Given the description of an element on the screen output the (x, y) to click on. 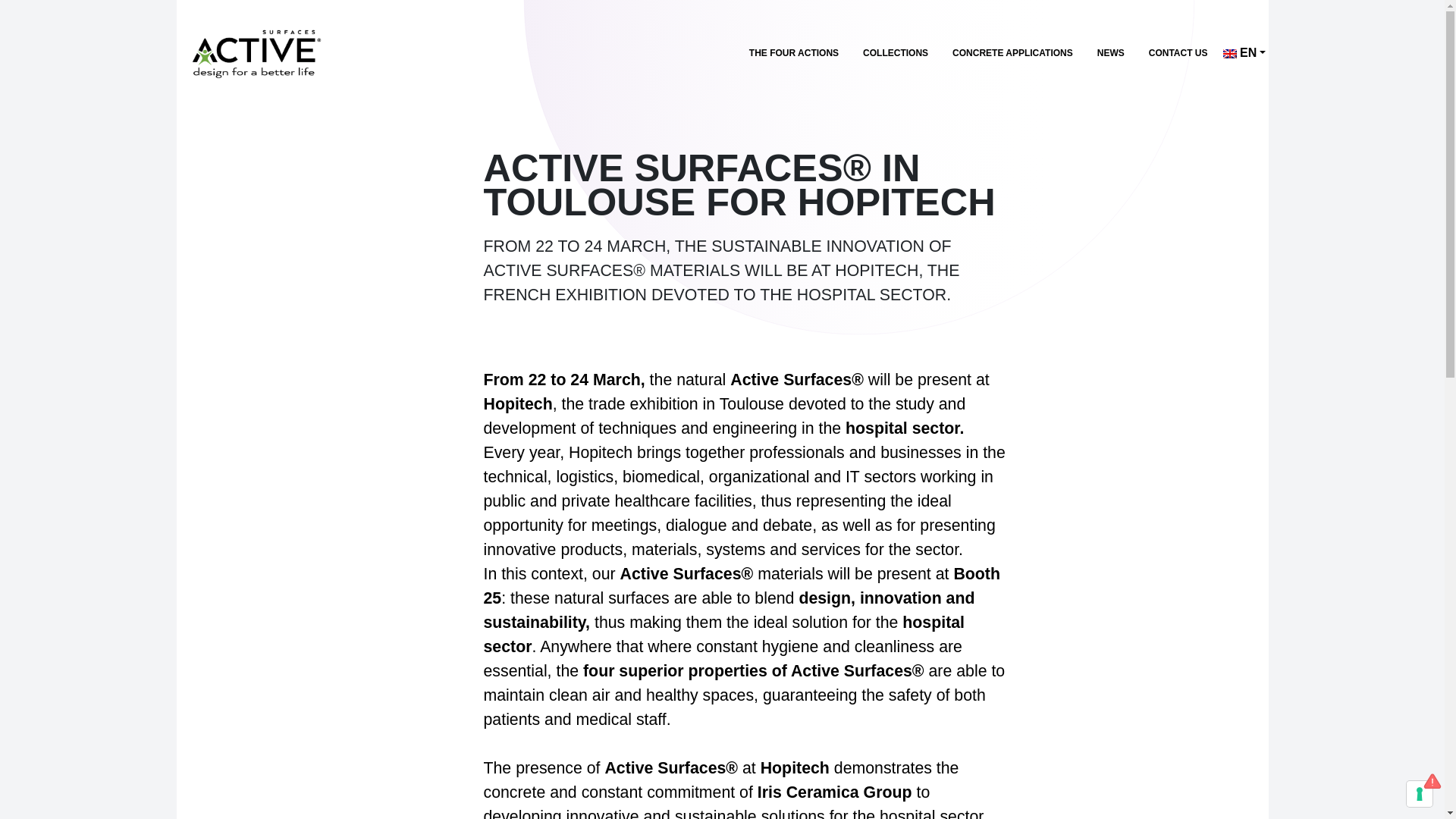
EN (1244, 52)
The four actions (793, 53)
CONCRETE APPLICATIONS (1012, 53)
CONTACT US (1178, 53)
THE FOUR ACTIONS (793, 53)
NEWS (1110, 53)
Media (1244, 52)
COLLECTIONS (895, 53)
Contact us (1178, 53)
News (1110, 53)
Concrete Applications (1012, 53)
Active Surfaces (255, 51)
Collections (895, 53)
